Given the description of an element on the screen output the (x, y) to click on. 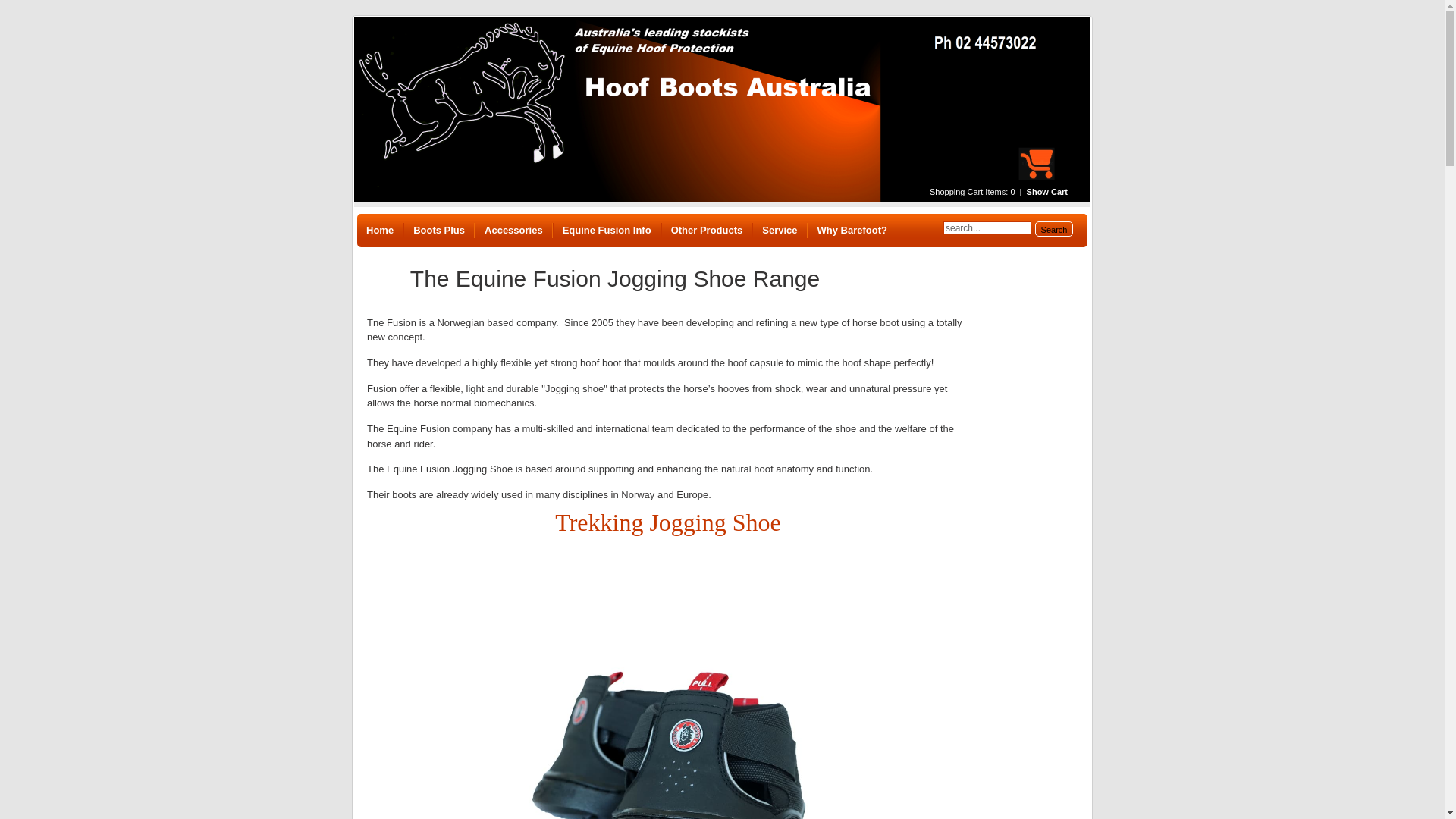
Boots Plus Element type: text (438, 230)
Accessories Element type: text (513, 230)
Other Products Element type: text (707, 230)
Equine Fusion Info Element type: text (606, 230)
Service Element type: text (779, 230)
Why Barefoot? Element type: text (852, 230)
Hoof Boots Australia Element type: hover (722, 109)
Home Element type: text (379, 230)
Search Element type: text (1054, 228)
Show Cart Element type: text (1054, 190)
